Given the description of an element on the screen output the (x, y) to click on. 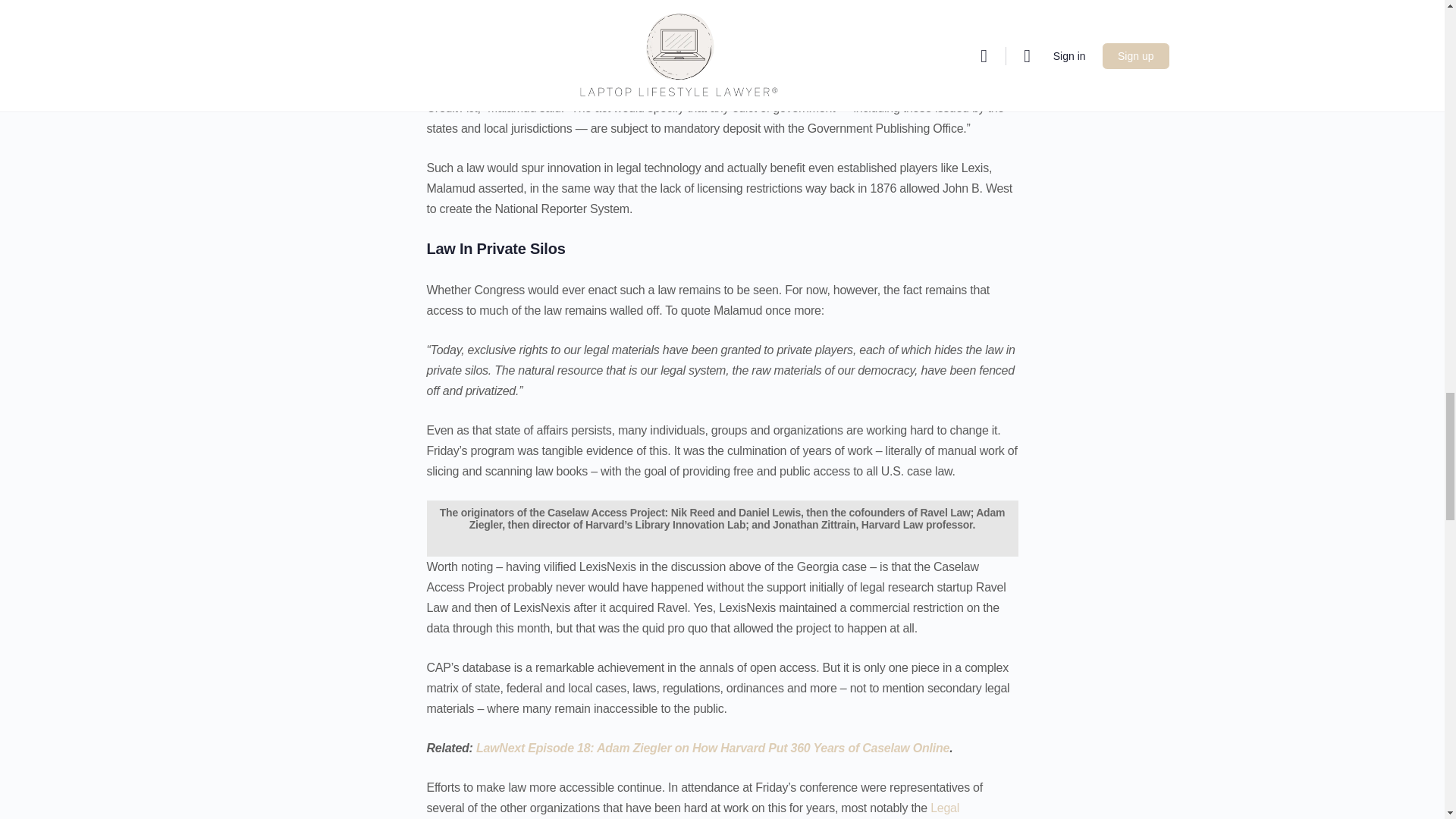
Legal Information Institute (692, 810)
